Given the description of an element on the screen output the (x, y) to click on. 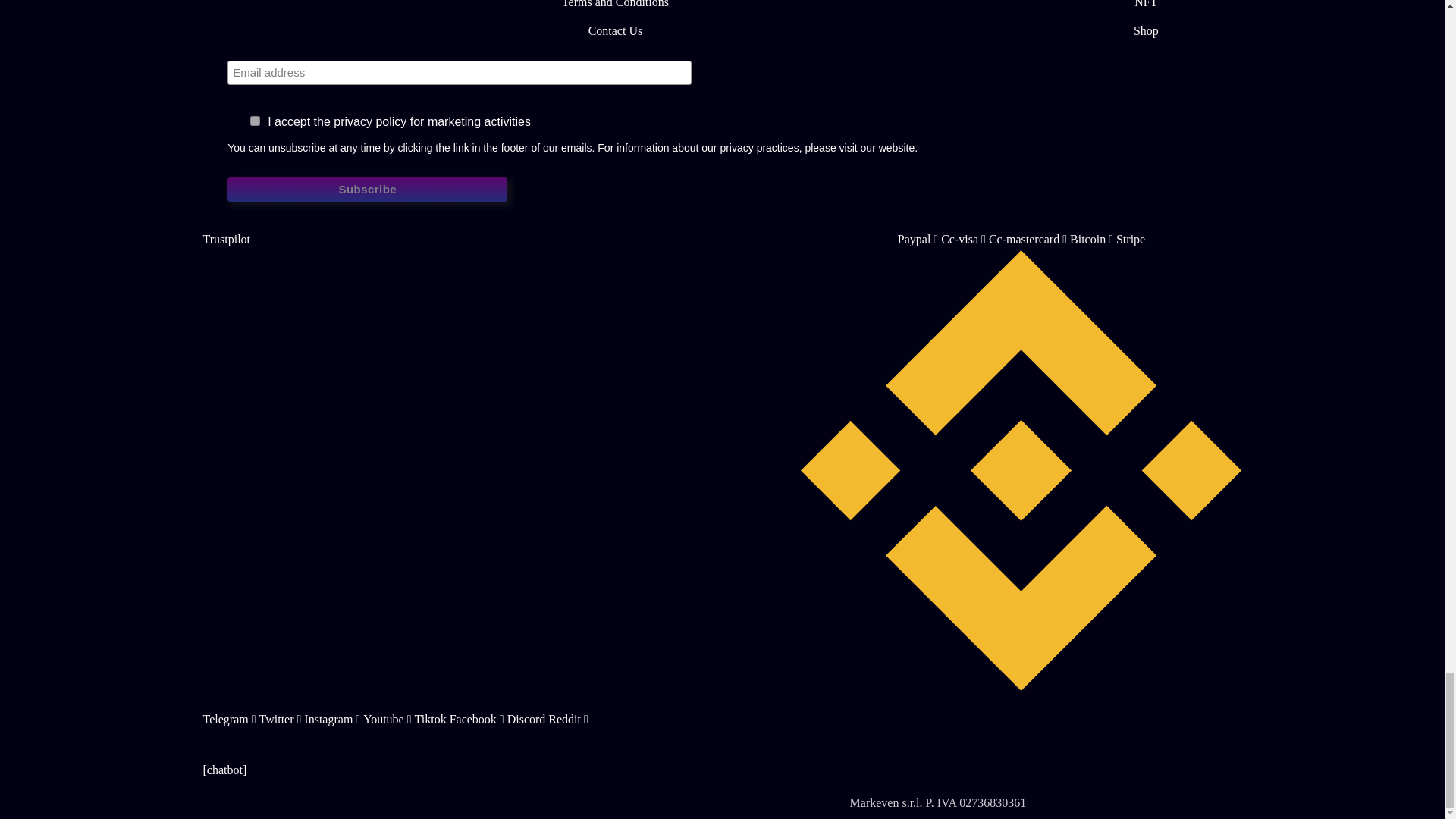
Subscribe (366, 189)
Y (255, 121)
